Given the description of an element on the screen output the (x, y) to click on. 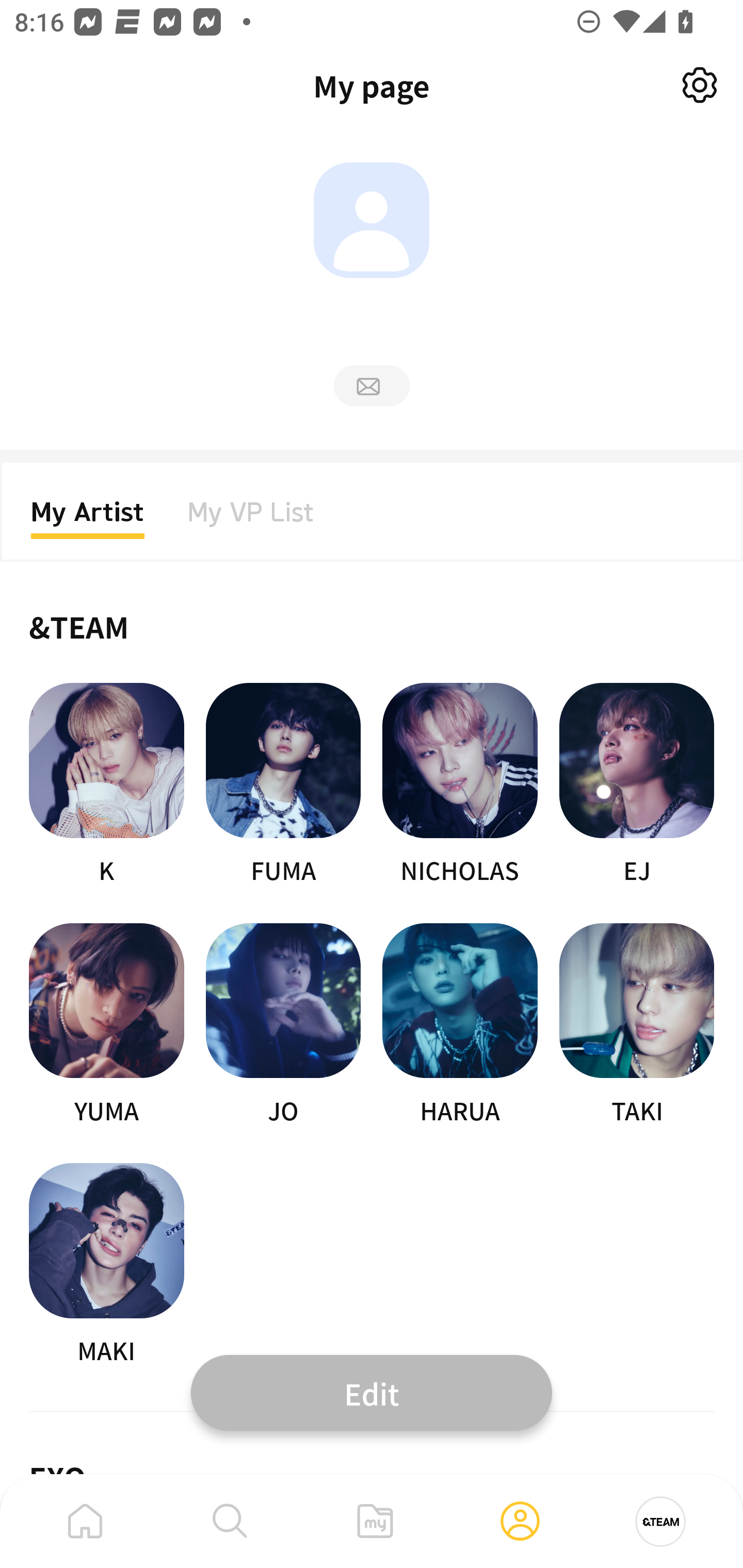
My Artist (87, 517)
My VP List (250, 517)
K (106, 785)
FUMA (282, 785)
NICHOLAS (459, 785)
EJ (636, 785)
YUMA (106, 1025)
JO (282, 1025)
HARUA (459, 1025)
TAKI (636, 1025)
MAKI (106, 1265)
Edit (371, 1392)
